Given the description of an element on the screen output the (x, y) to click on. 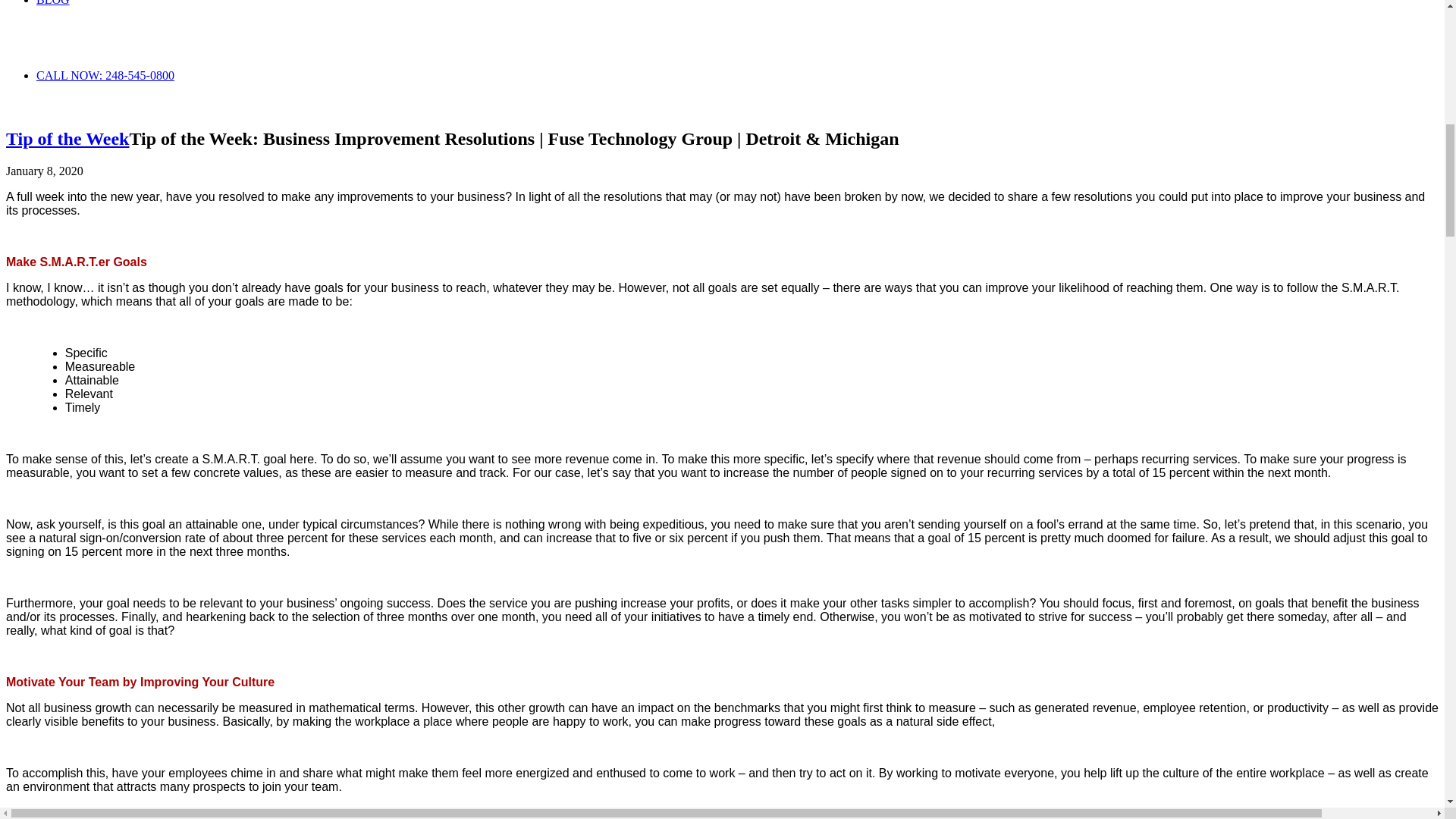
CALL NOW: 248-545-0800 (105, 74)
Tip of the Week (67, 138)
BLOG (52, 2)
